Given the description of an element on the screen output the (x, y) to click on. 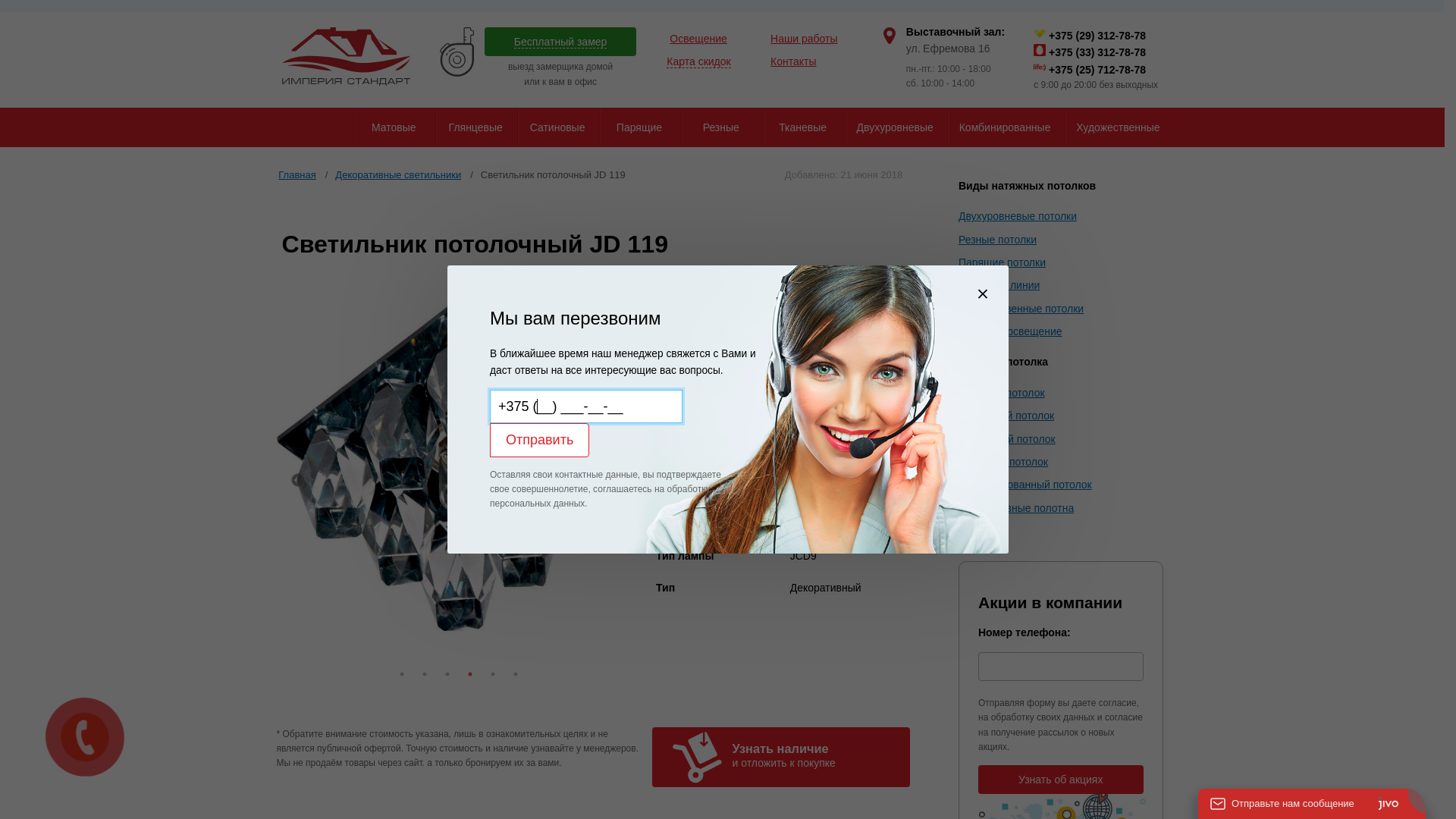
6 Element type: text (515, 673)
5 Element type: text (492, 673)
Next Element type: text (619, 480)
2 Element type: text (424, 673)
4 Element type: text (469, 673)
Previous Element type: text (297, 480)
3 Element type: text (447, 673)
1 Element type: text (401, 673)
  Element type: text (312, 127)
